Given the description of an element on the screen output the (x, y) to click on. 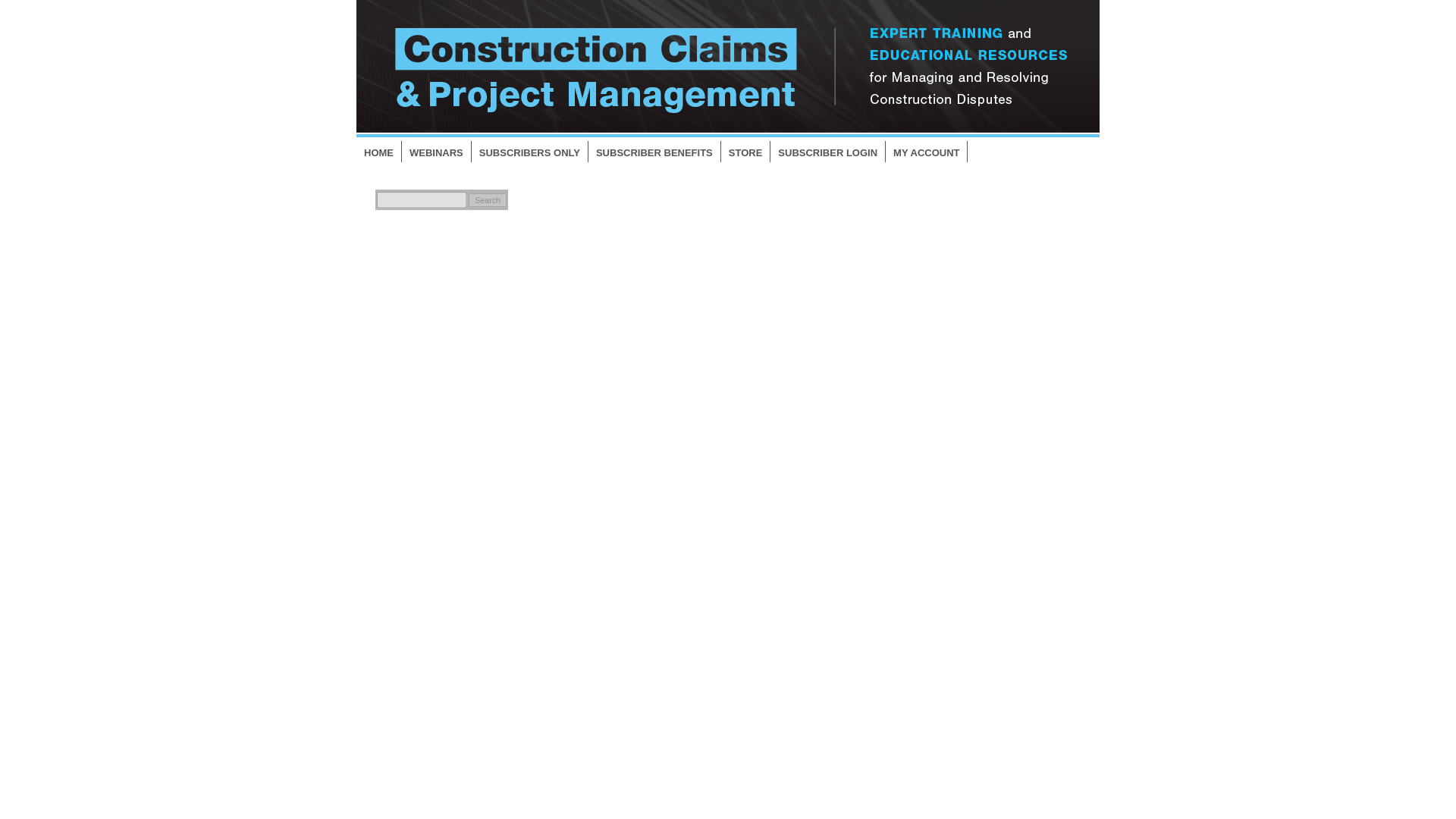
HOME (378, 151)
Search (487, 200)
SUBSCRIBER LOGIN (827, 151)
STORE (745, 151)
Search (487, 200)
SUBSCRIBERS ONLY (529, 151)
WEBINARS (436, 151)
MY ACCOUNT (926, 151)
SUBSCRIBER BENEFITS (654, 151)
